Given the description of an element on the screen output the (x, y) to click on. 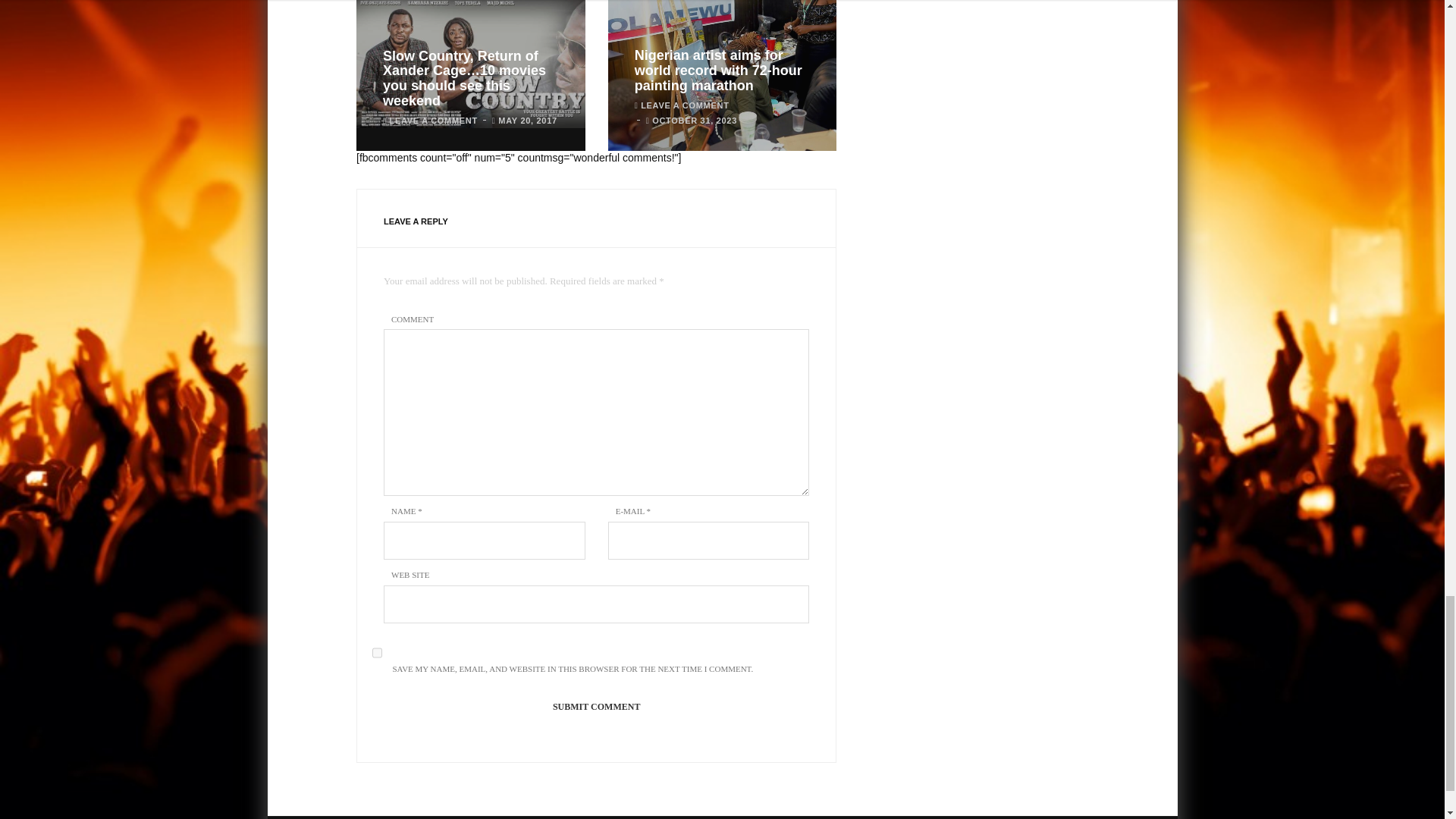
Submit Comment (596, 707)
